Given the description of an element on the screen output the (x, y) to click on. 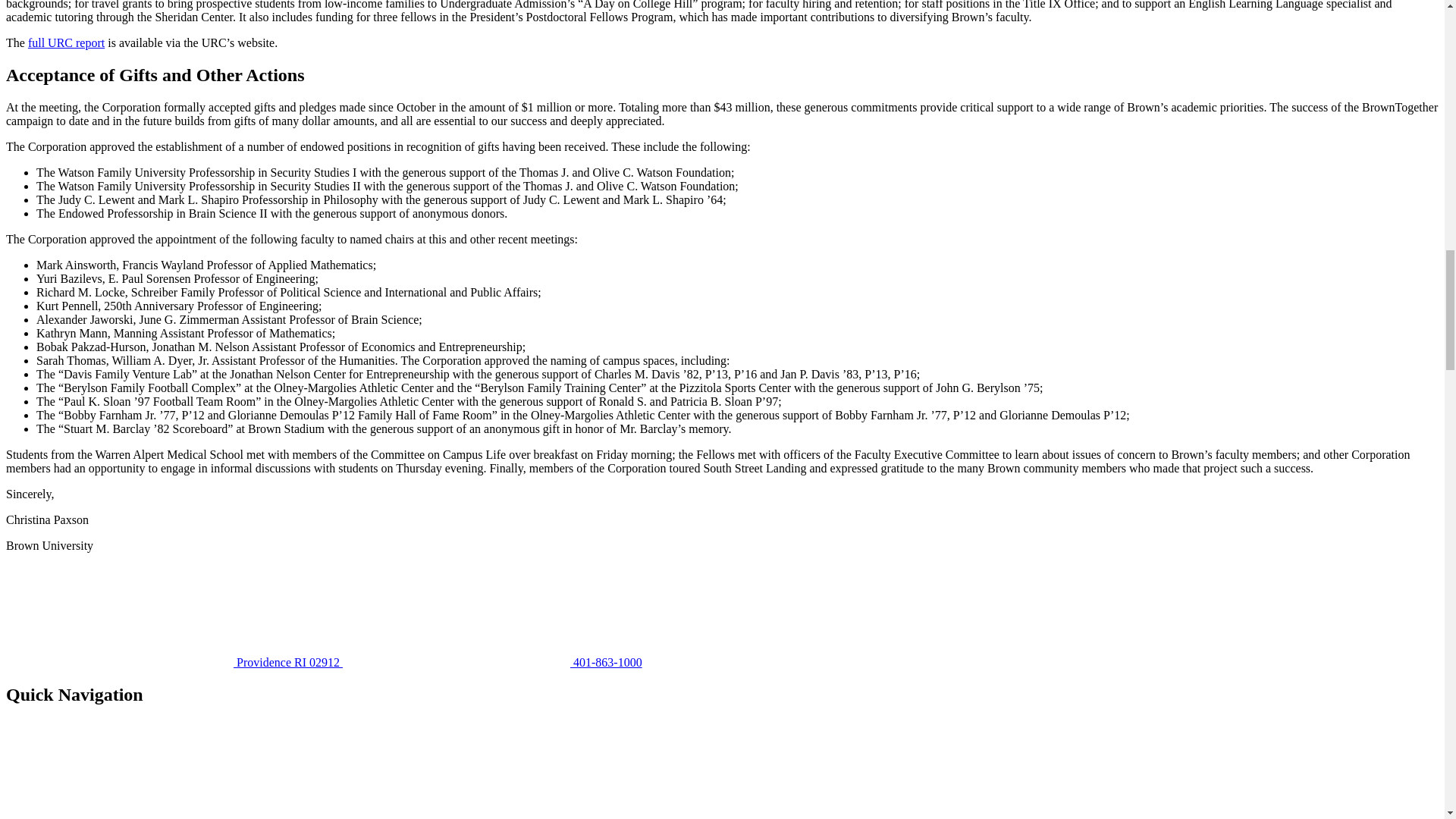
Providence RI 02912 (173, 662)
full URC report (65, 42)
401-863-1000 (492, 662)
